Given the description of an element on the screen output the (x, y) to click on. 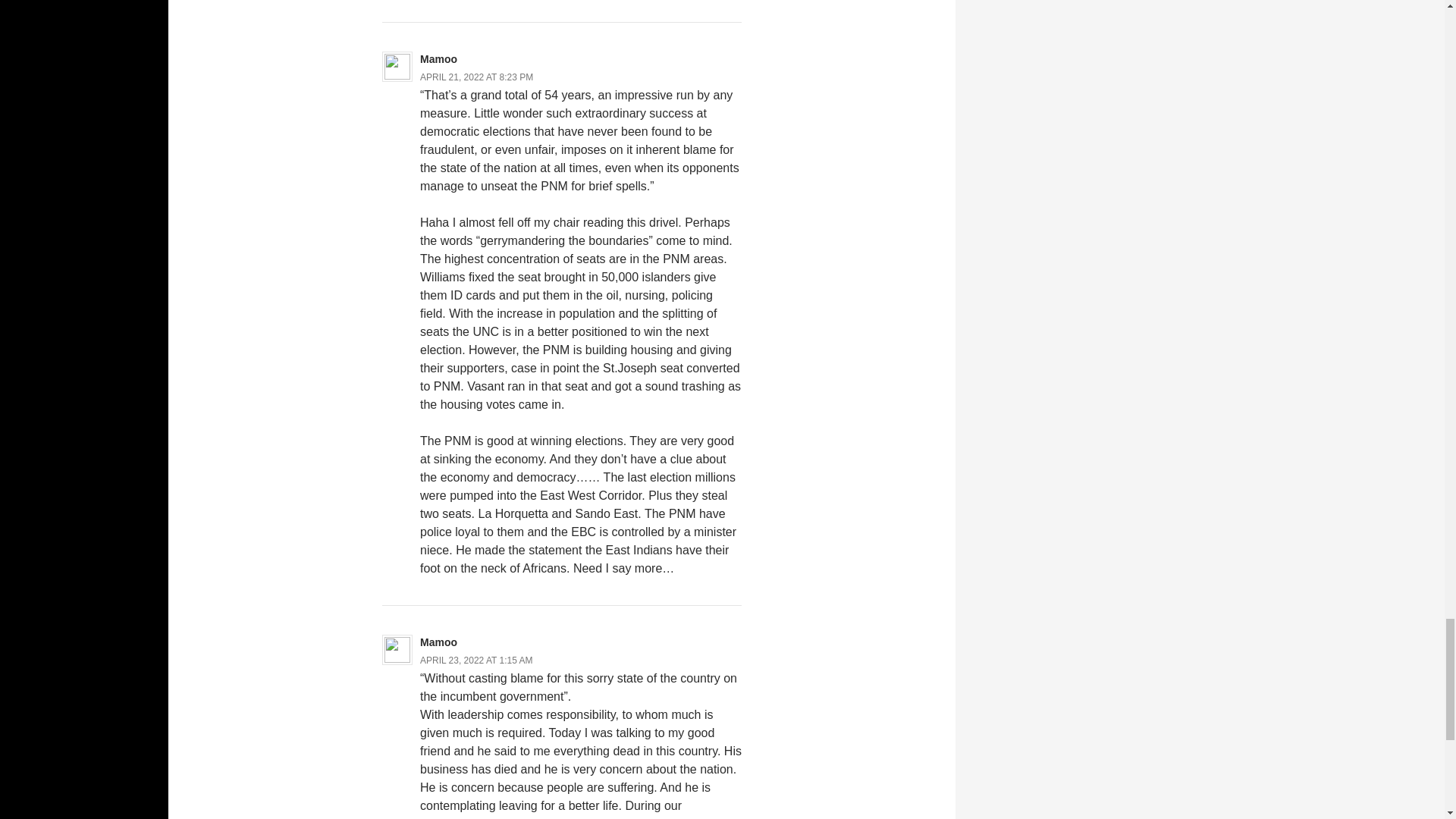
APRIL 21, 2022 AT 8:23 PM (476, 77)
APRIL 23, 2022 AT 1:15 AM (476, 660)
